Given the description of an element on the screen output the (x, y) to click on. 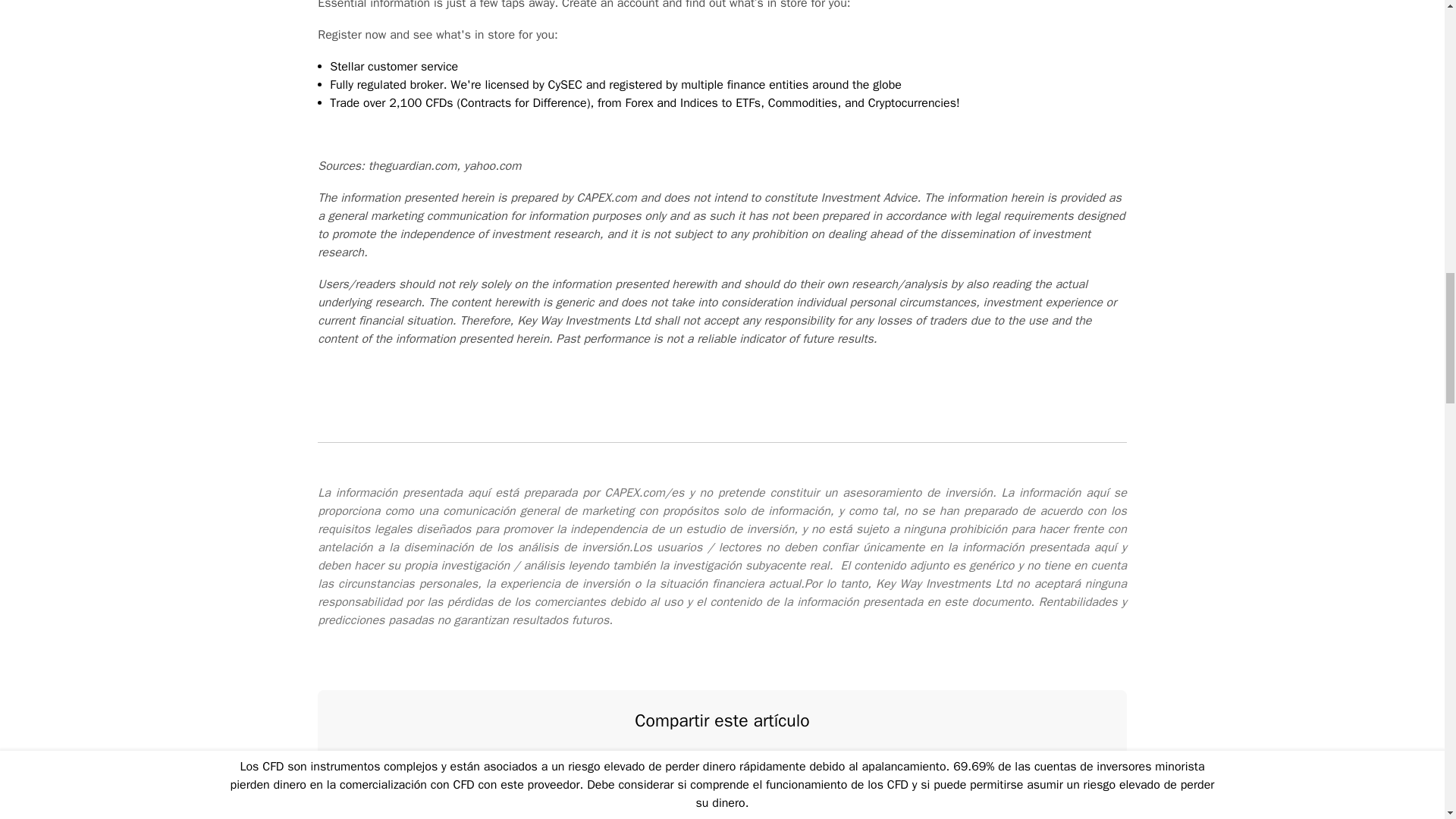
Article Hero (768, 763)
Article Hero (675, 763)
Article Hero (721, 763)
